Given the description of an element on the screen output the (x, y) to click on. 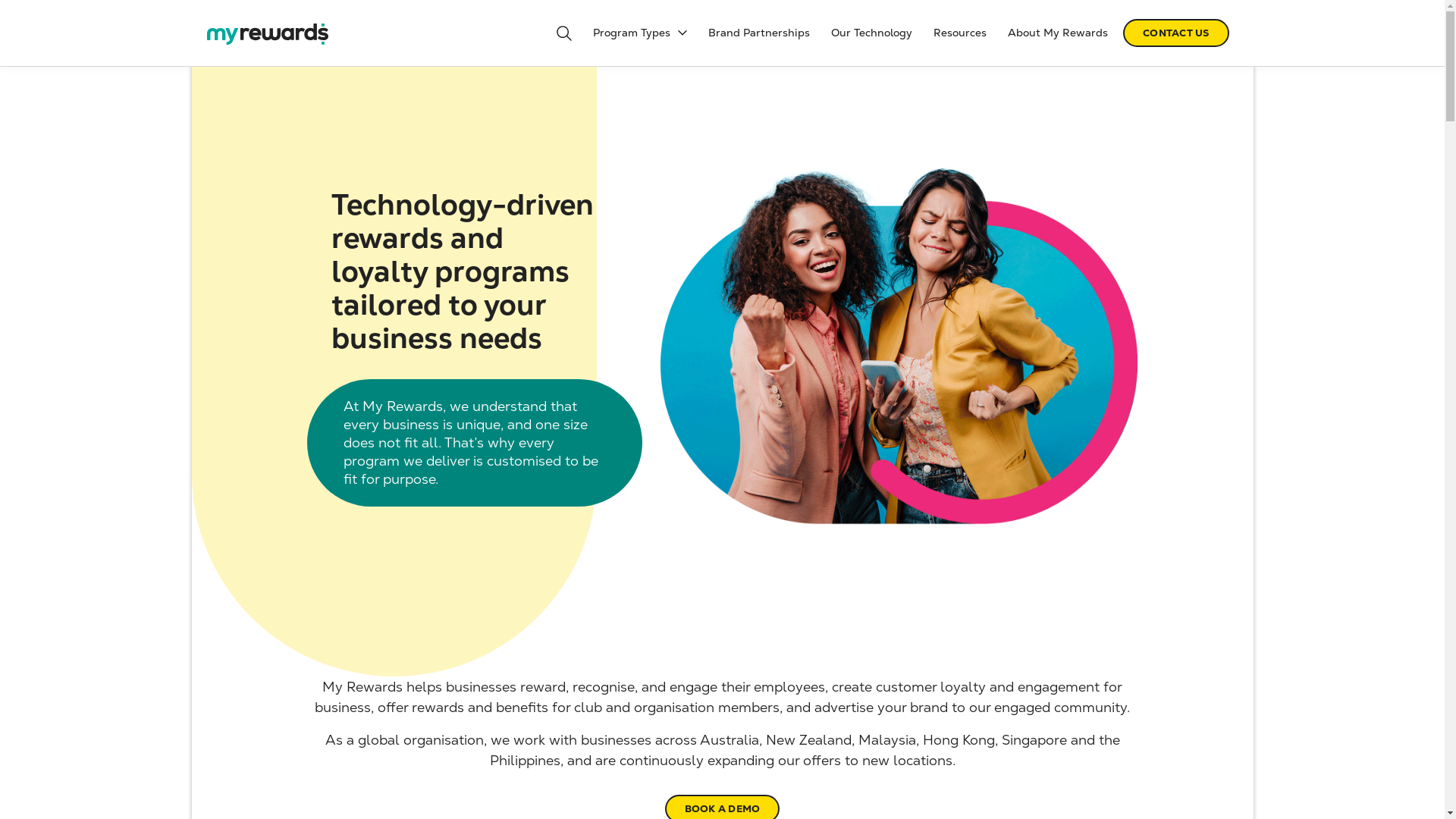
Brand Partnerships Element type: text (758, 32)
Our Technology Element type: text (871, 32)
About My Rewards Element type: text (1057, 32)
CONTACT US Element type: text (1176, 32)
Resources Element type: text (959, 32)
Program Types Element type: text (639, 32)
